Given the description of an element on the screen output the (x, y) to click on. 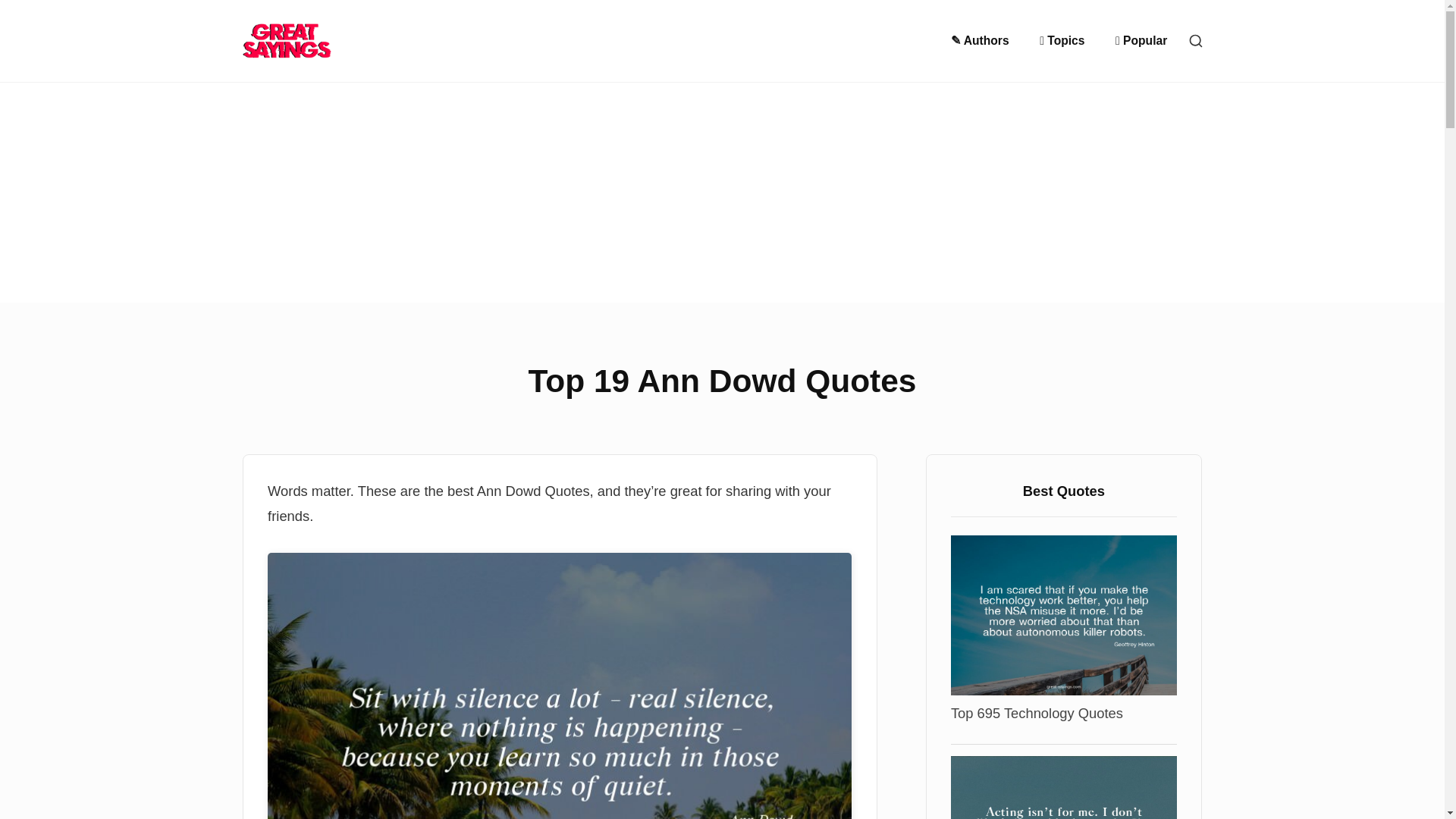
Top 695 Technology Quotes (1036, 713)
Top 695 Technology Quotes (1063, 613)
